Given the description of an element on the screen output the (x, y) to click on. 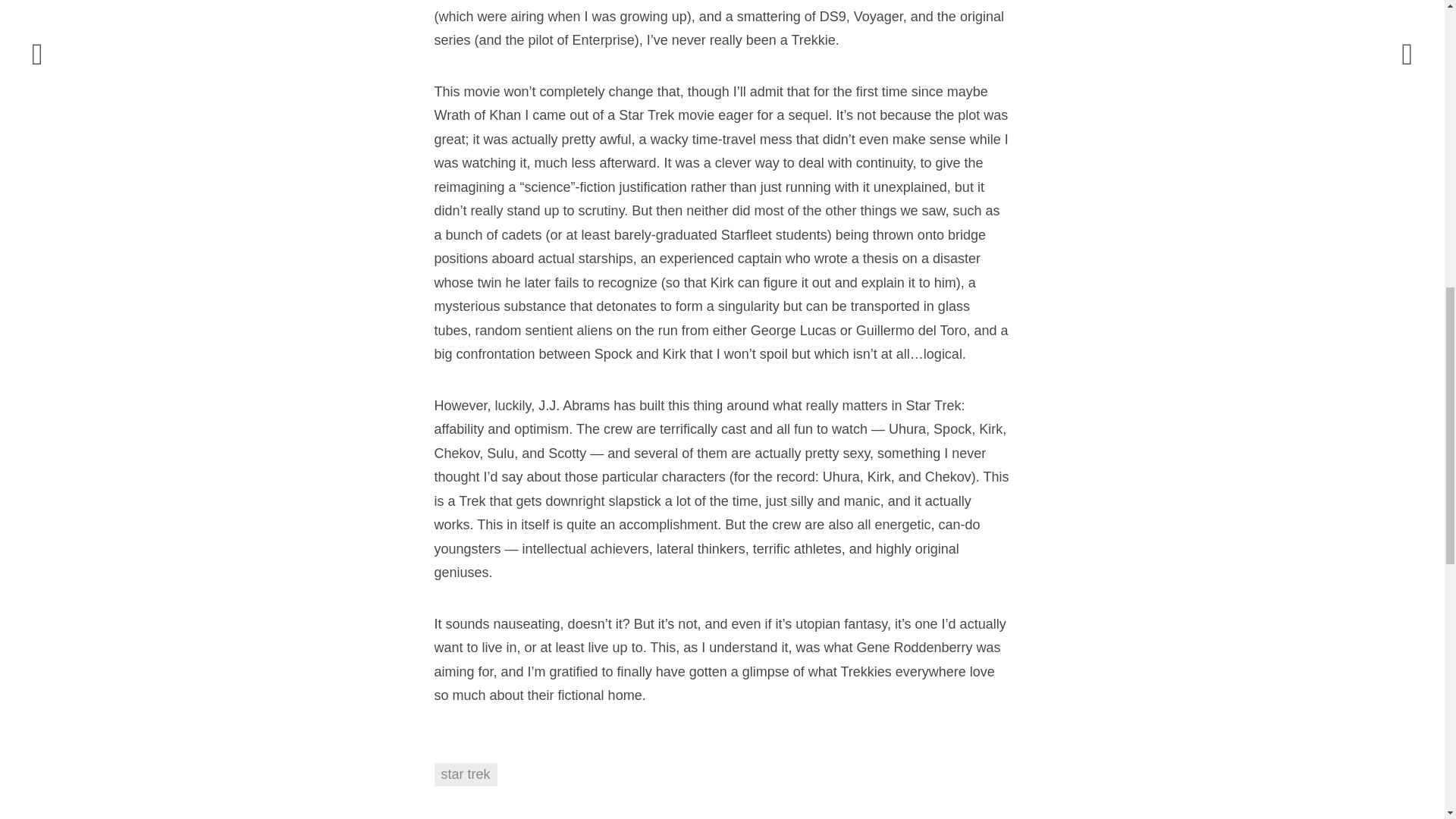
star trek (464, 774)
